Given the description of an element on the screen output the (x, y) to click on. 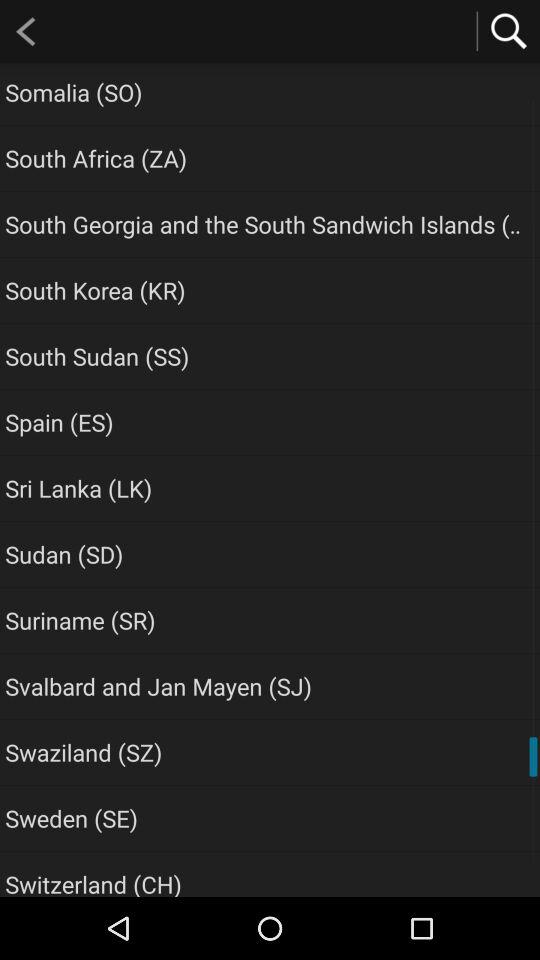
choose the item below suriname (sr) app (158, 686)
